Given the description of an element on the screen output the (x, y) to click on. 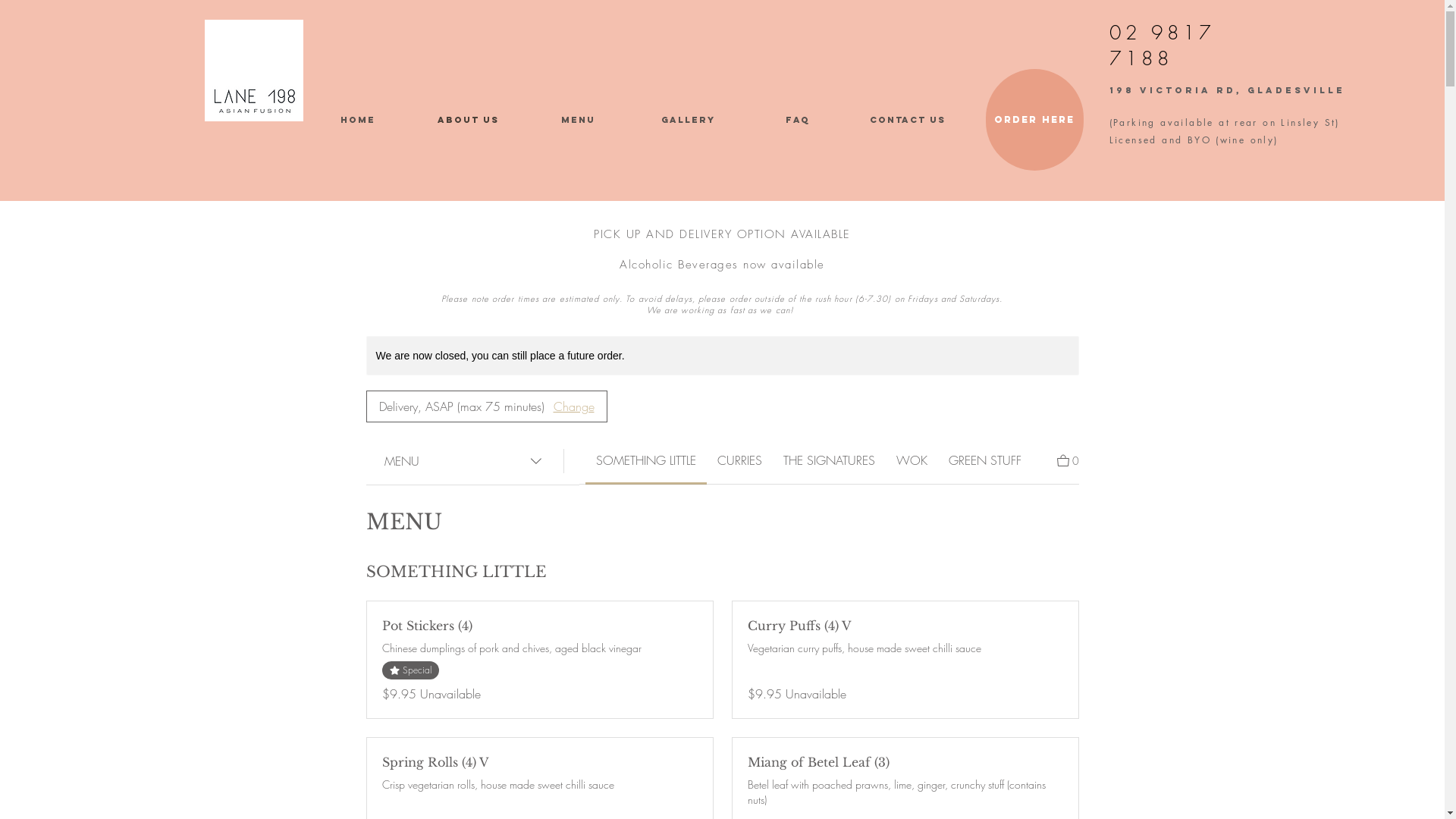
ORDER HERE Element type: text (1034, 119)
MENU Element type: text (463, 460)
Contact Us Element type: text (907, 119)
Gallery Element type: text (687, 119)
Menu Element type: text (578, 119)
Pot Stickers (4) Element type: text (539, 625)
Curry Puffs (4) V Element type: text (905, 625)
Spring Rolls (4) V Element type: text (539, 762)
FAQ Element type: text (798, 119)
02 9817 7188 Element type: text (1161, 45)
About Us Element type: text (467, 119)
HOME Element type: text (358, 119)
Change Element type: text (573, 406)
Miang of Betel Leaf (3) Element type: text (905, 762)
0 Element type: text (1068, 459)
